Given the description of an element on the screen output the (x, y) to click on. 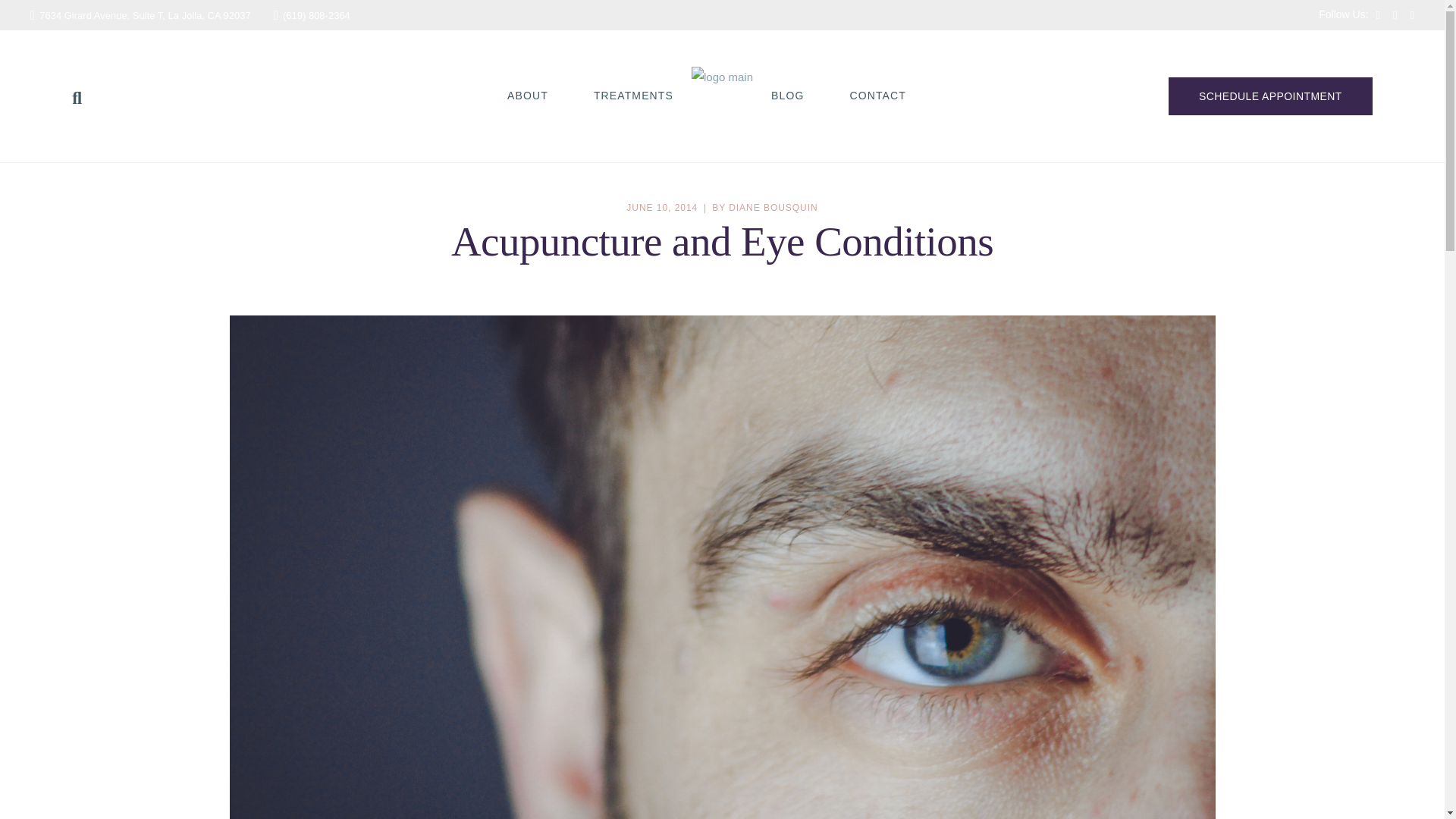
JUNE 10, 2014 (661, 207)
SCHEDULE APPOINTMENT (1271, 95)
DIANE BOUSQUIN (772, 207)
